Given the description of an element on the screen output the (x, y) to click on. 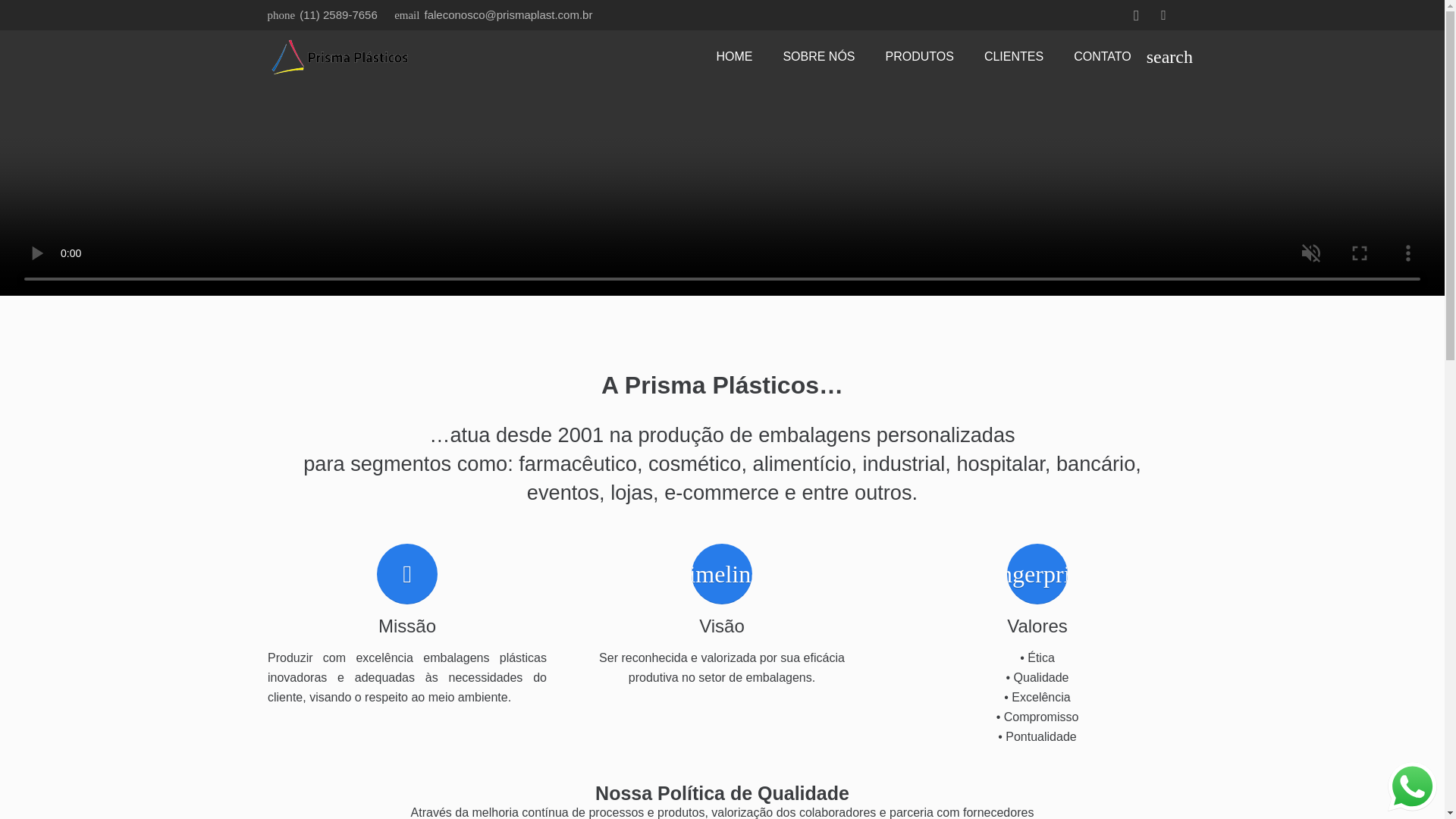
Instagram (1136, 14)
LinkedIn (1163, 14)
PRODUTOS (919, 56)
search (1166, 57)
CONTATO (1102, 56)
fingerprint (1145, 652)
CLIENTES (1013, 56)
Valores (1139, 655)
timeline (785, 615)
HOME (733, 56)
